Given the description of an element on the screen output the (x, y) to click on. 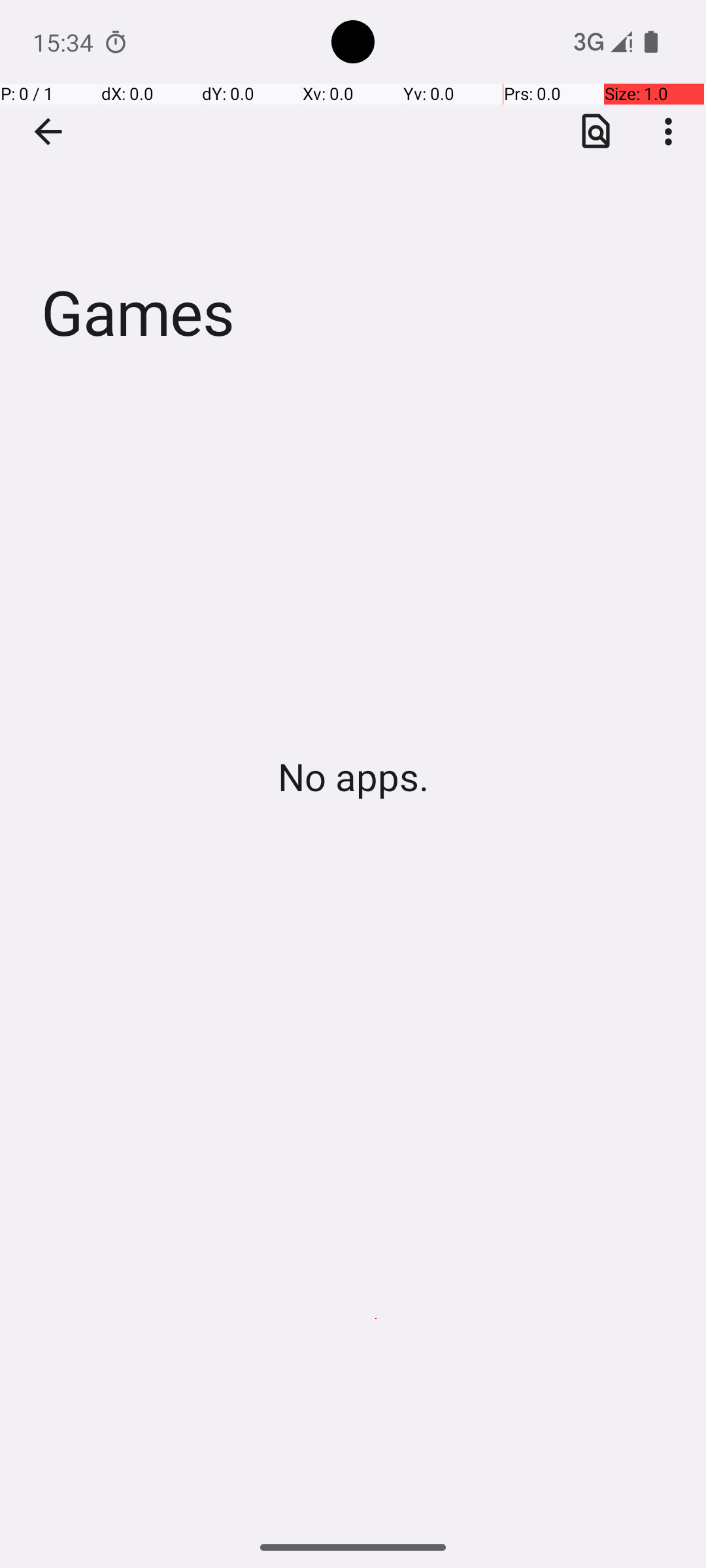
No apps. Element type: android.widget.TextView (353, 776)
